Given the description of an element on the screen output the (x, y) to click on. 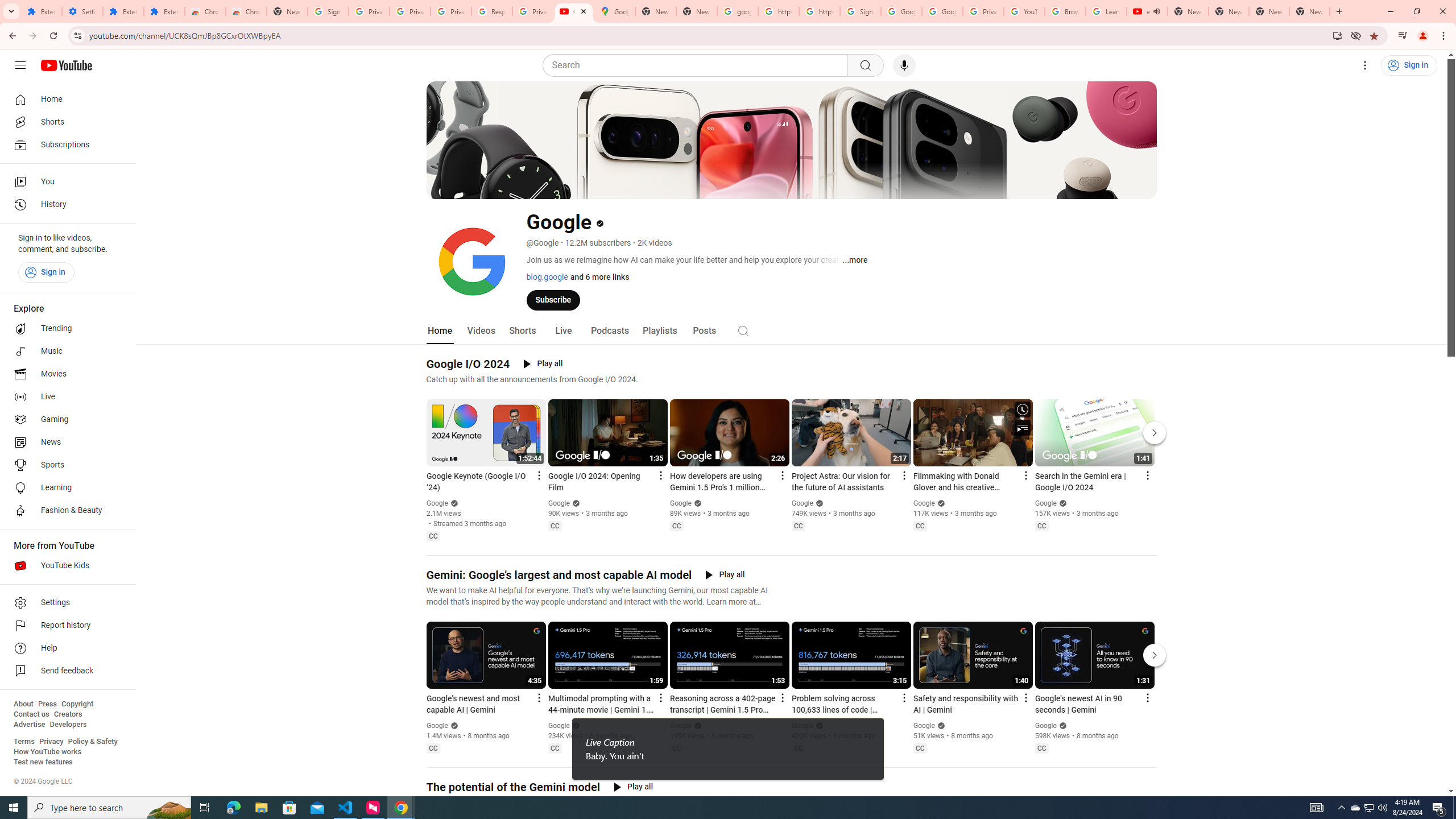
Videos (481, 330)
Test new features (42, 761)
Movies (64, 373)
Playlists (659, 330)
Creators (67, 714)
Trending (64, 328)
Extensions (122, 11)
Chrome Web Store (205, 11)
